Given the description of an element on the screen output the (x, y) to click on. 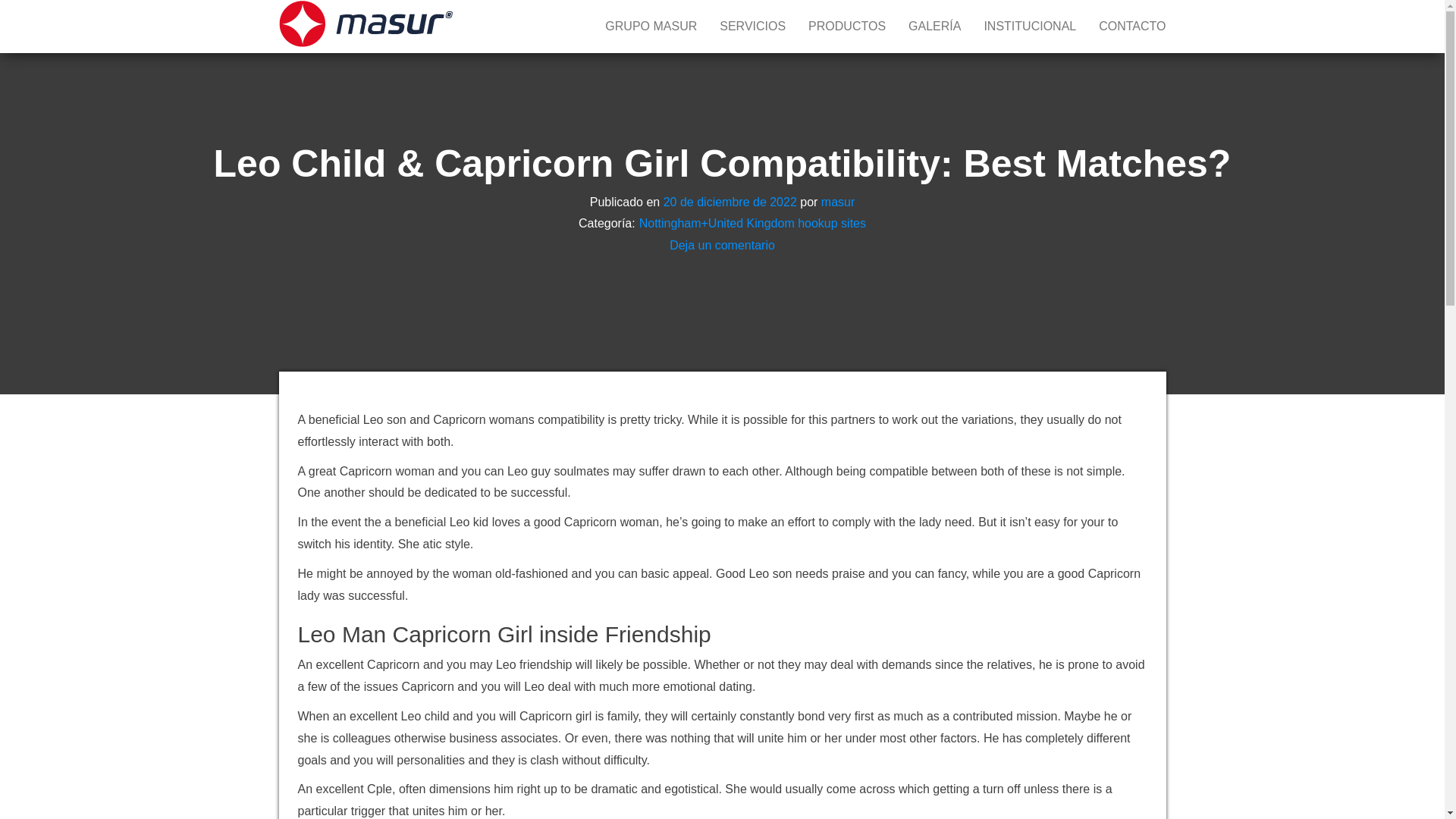
SERVICIOS (751, 26)
CONTACTO (1131, 26)
GRUPO MASUR (650, 26)
PRODUCTOS (846, 26)
INSTITUCIONAL (1029, 26)
Masur (483, 17)
SERVICIOS (751, 26)
CONTACTO (1131, 26)
GRUPO MASUR (650, 26)
PRODUCTOS (846, 26)
